Given the description of an element on the screen output the (x, y) to click on. 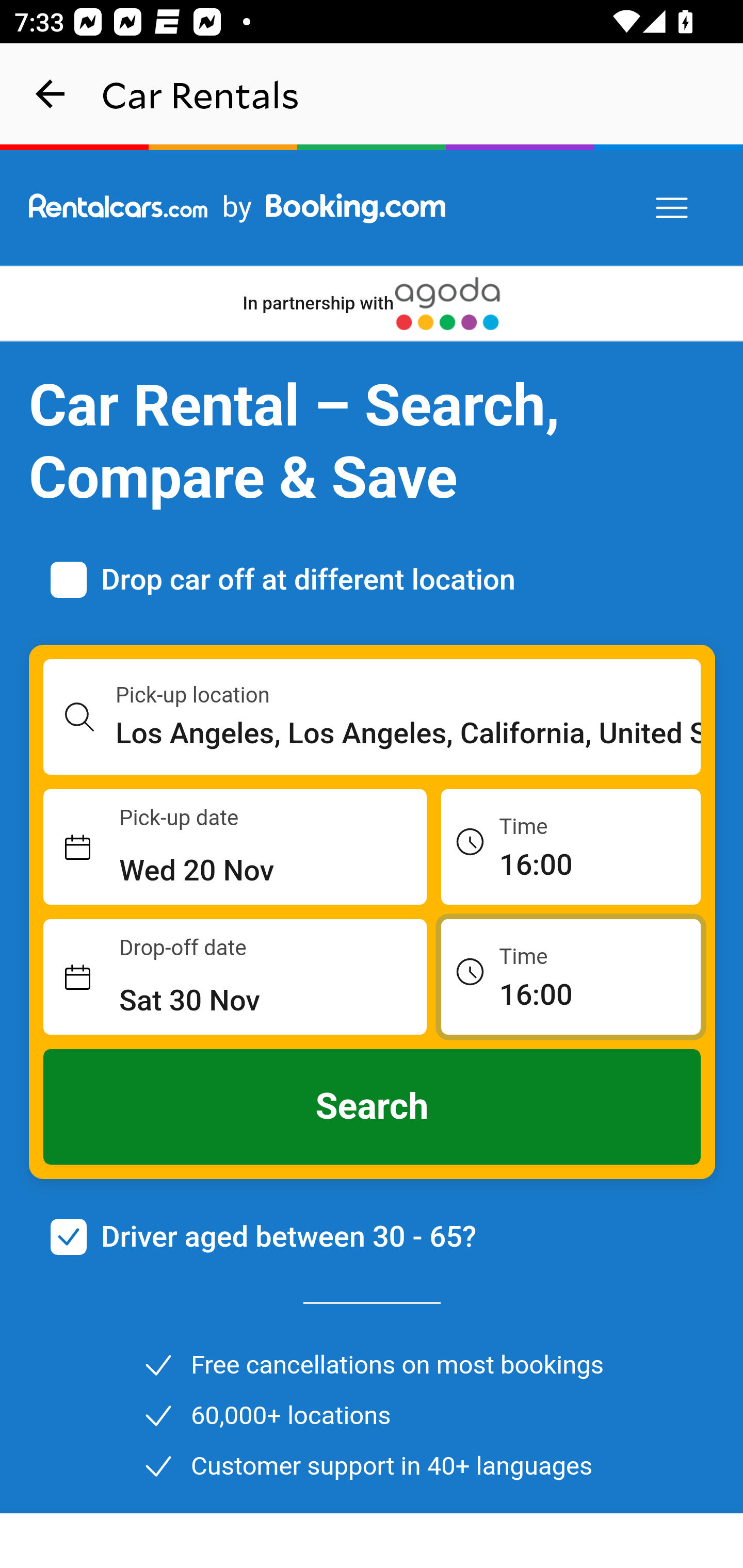
navigation_button (50, 93)
Menu (672, 208)
Pick-up date Wed 20 Nov (235, 847)
16:00 (571, 845)
Drop-off date Sat 30 Nov (235, 977)
16:00 (571, 975)
Search (372, 1106)
